Given the description of an element on the screen output the (x, y) to click on. 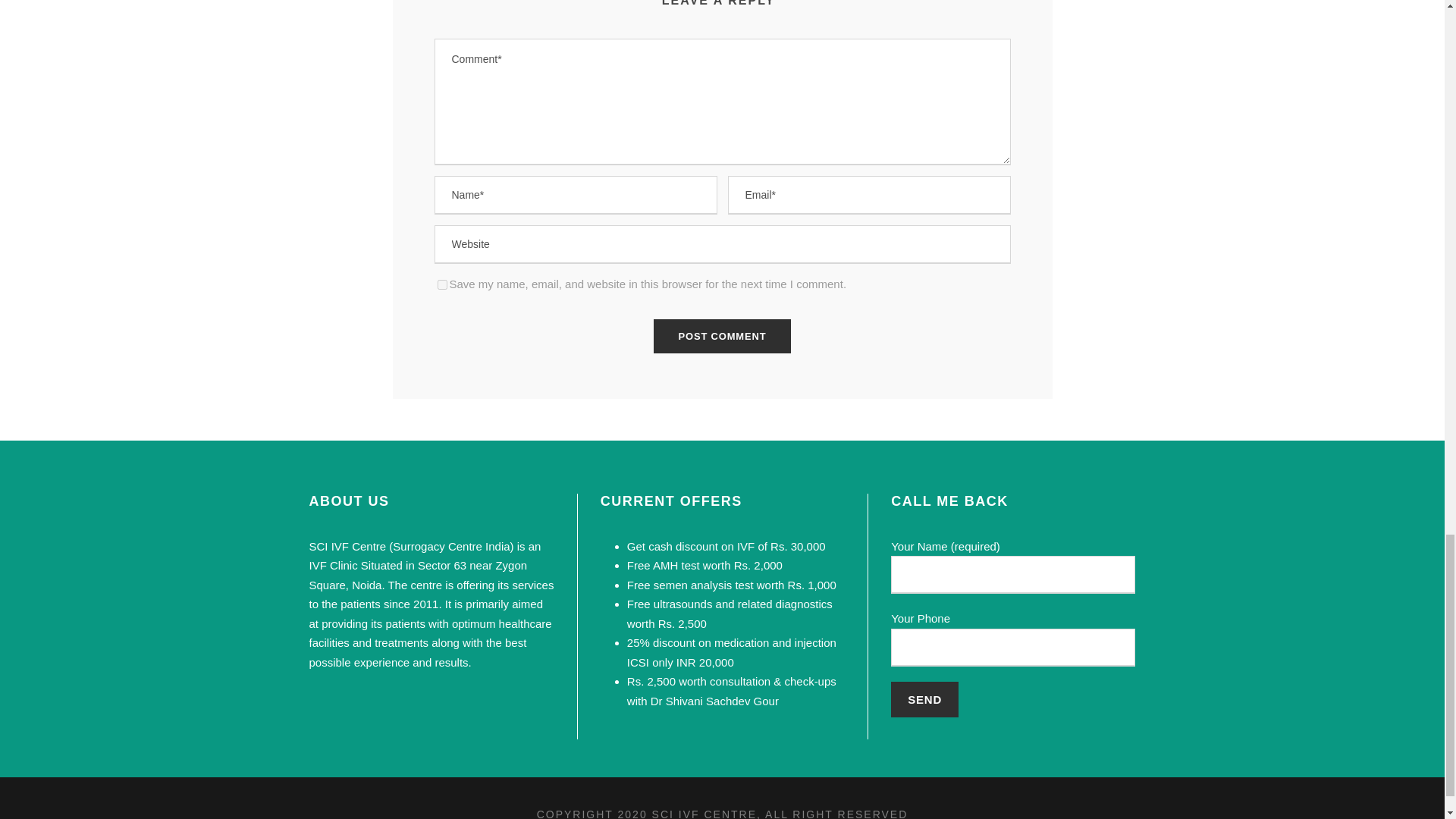
Post Comment (722, 335)
yes (441, 284)
Send (924, 699)
